Given the description of an element on the screen output the (x, y) to click on. 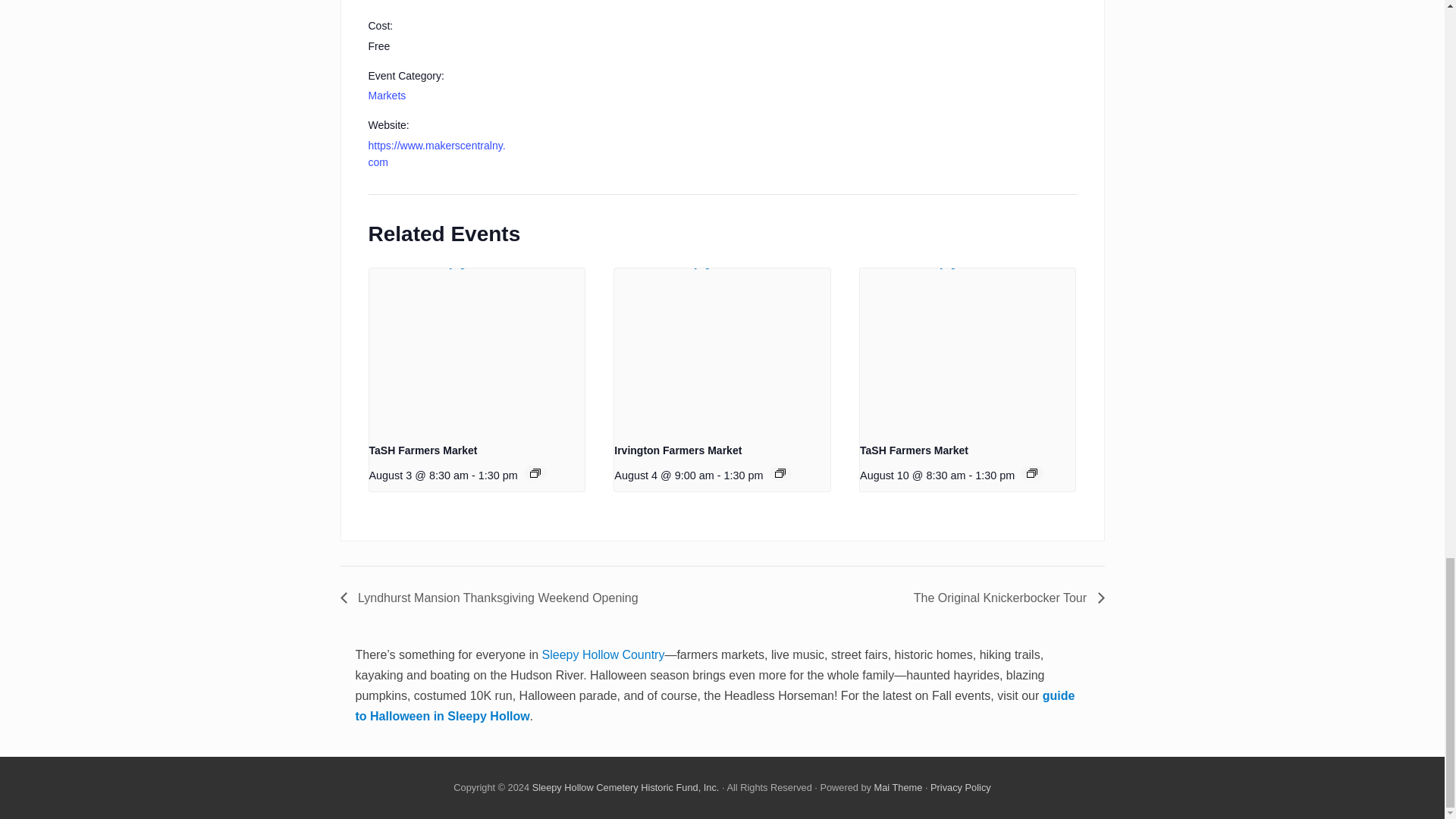
Visit Sleepy Hollow (625, 787)
Makers Market (403, 1)
Event Series (1031, 472)
Event Series (780, 472)
Event Series (534, 472)
Visit Sleepy Hollow (960, 787)
Google maps iframe displaying the address to Makers Central (761, 5)
